Given the description of an element on the screen output the (x, y) to click on. 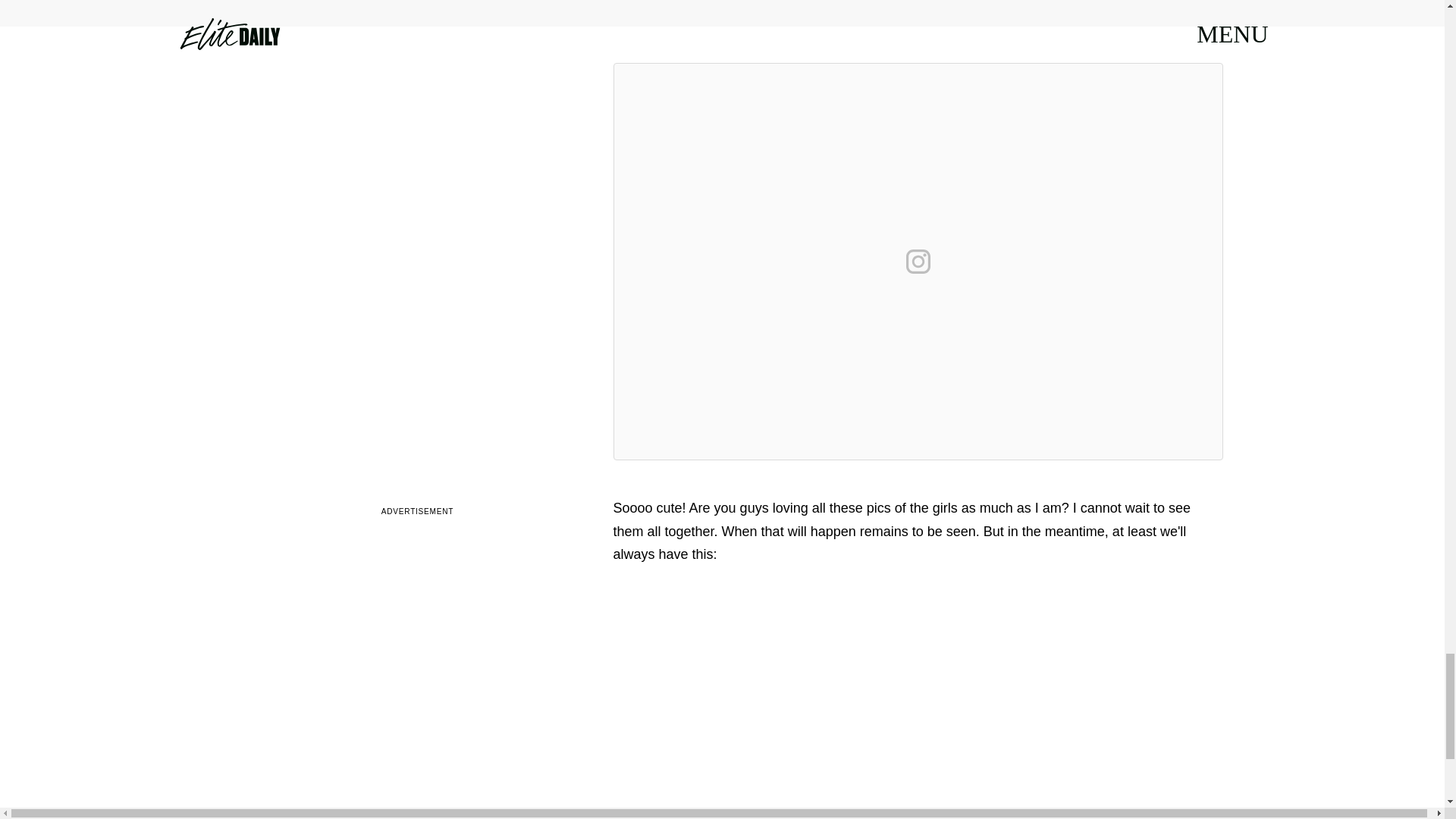
View on Instagram (917, 261)
